Given the description of an element on the screen output the (x, y) to click on. 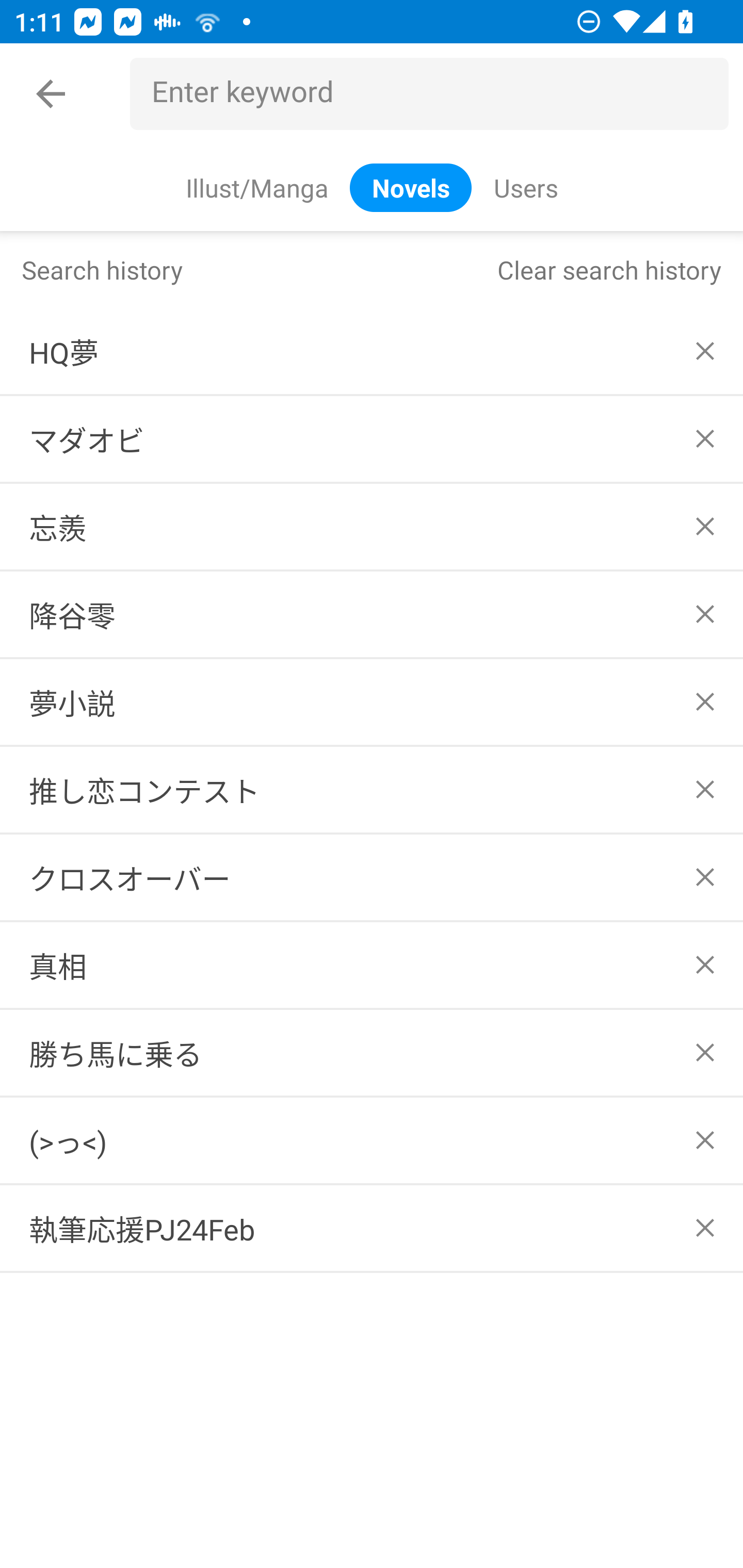
Navigate up (50, 93)
Enter keyword (436, 94)
Illust/Manga (256, 187)
Novels (410, 187)
Users (525, 187)
Clear search history (609, 269)
HQ夢 (371, 350)
マダオビ (371, 438)
忘羨 (371, 526)
降谷零 (371, 613)
夢小説 (371, 701)
推し恋コンテスト (371, 789)
クロスオーバー (371, 877)
真相 (371, 964)
勝ち馬に乗る (371, 1052)
(>っ<) (371, 1140)
執筆応援PJ24Feb (371, 1228)
